Given the description of an element on the screen output the (x, y) to click on. 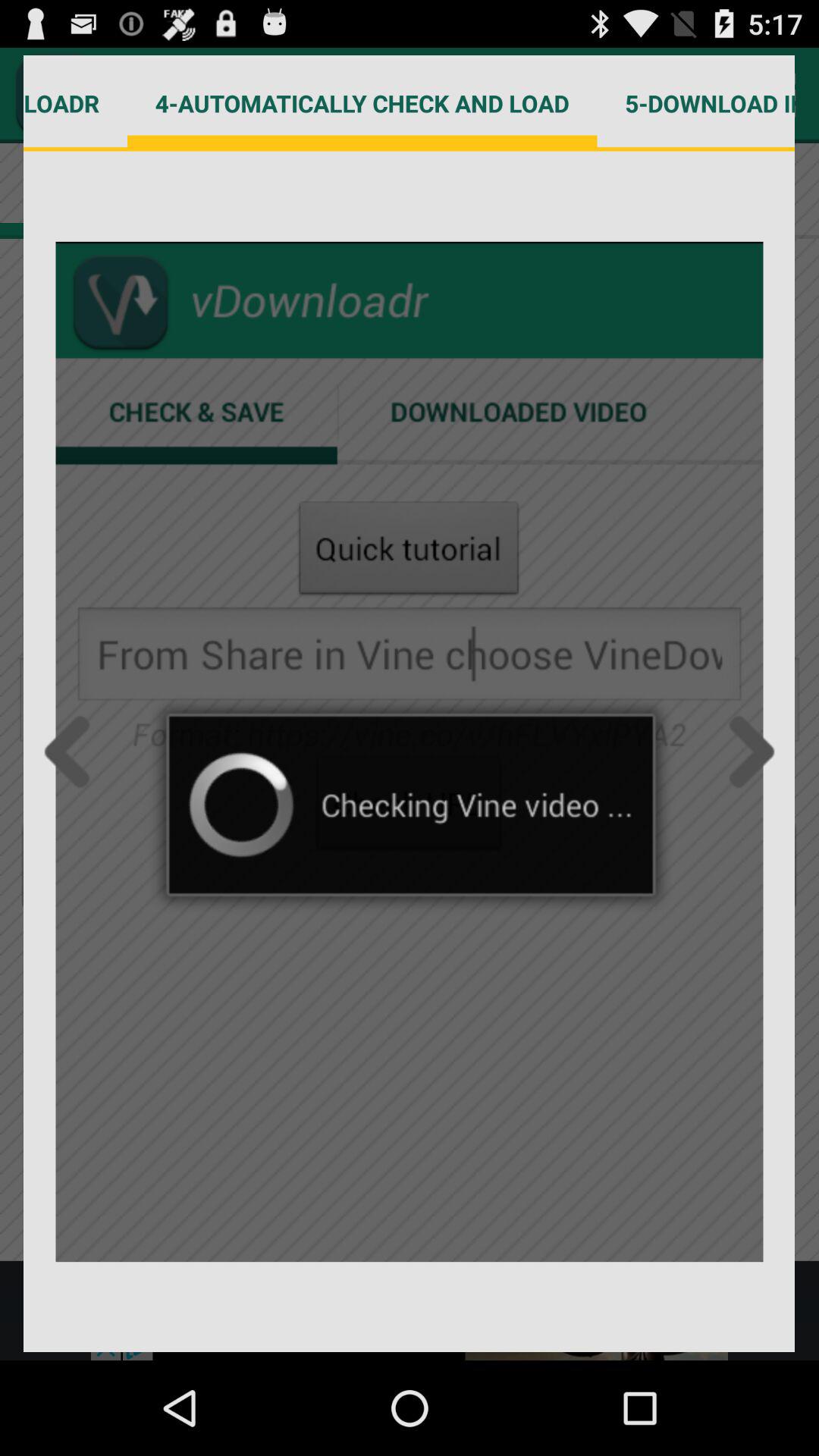
press the app at the top right corner (696, 103)
